Given the description of an element on the screen output the (x, y) to click on. 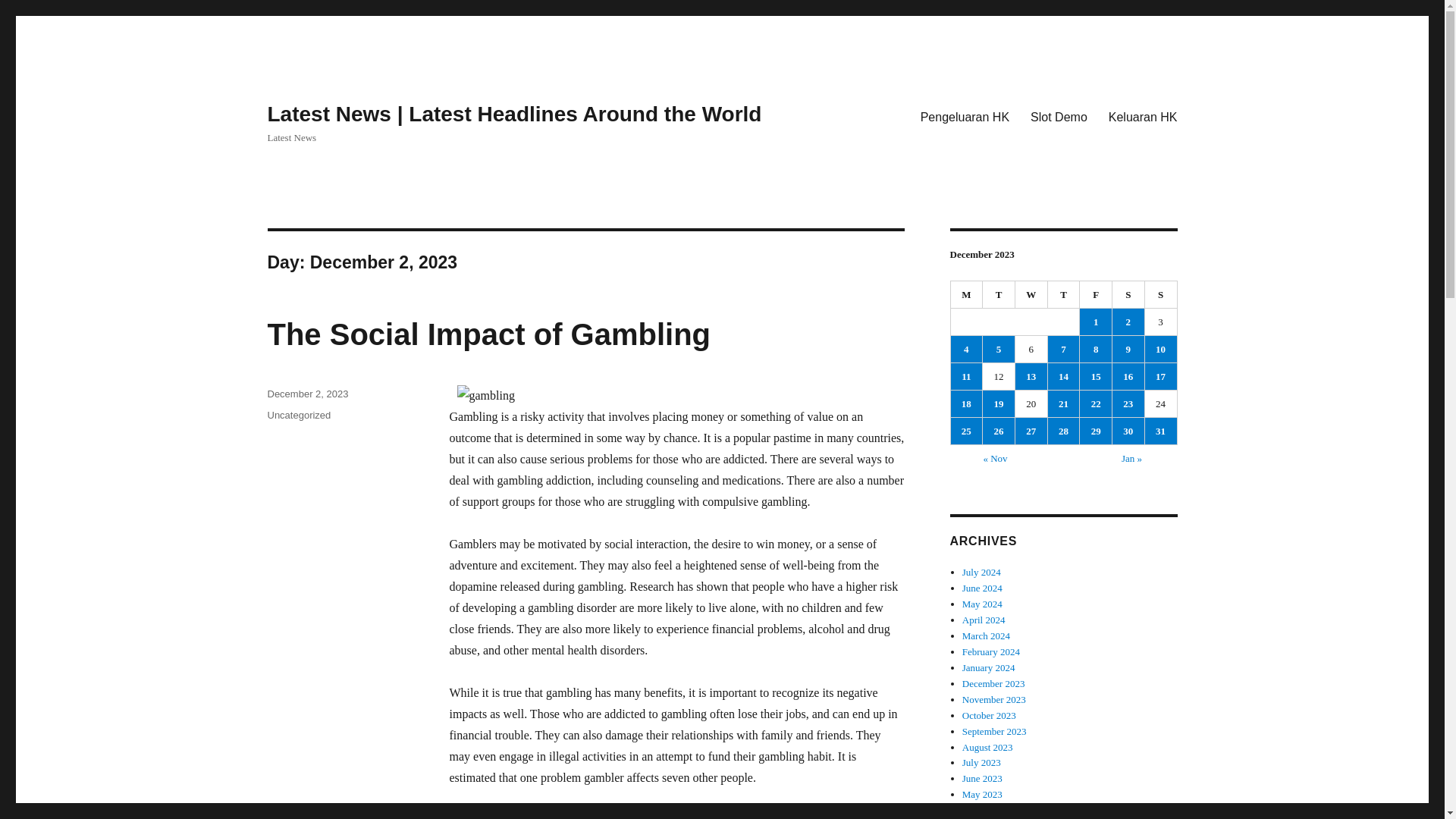
29 (1096, 430)
Pengeluaran HK (965, 116)
July 2024 (981, 572)
Slot Demo (1058, 116)
4 (966, 348)
Tuesday (998, 294)
Monday (967, 294)
23 (1128, 403)
December 2, 2023 (306, 393)
Thursday (1064, 294)
21 (1064, 403)
Keluaran HK (1142, 116)
19 (998, 403)
16 (1128, 376)
Friday (1096, 294)
